Given the description of an element on the screen output the (x, y) to click on. 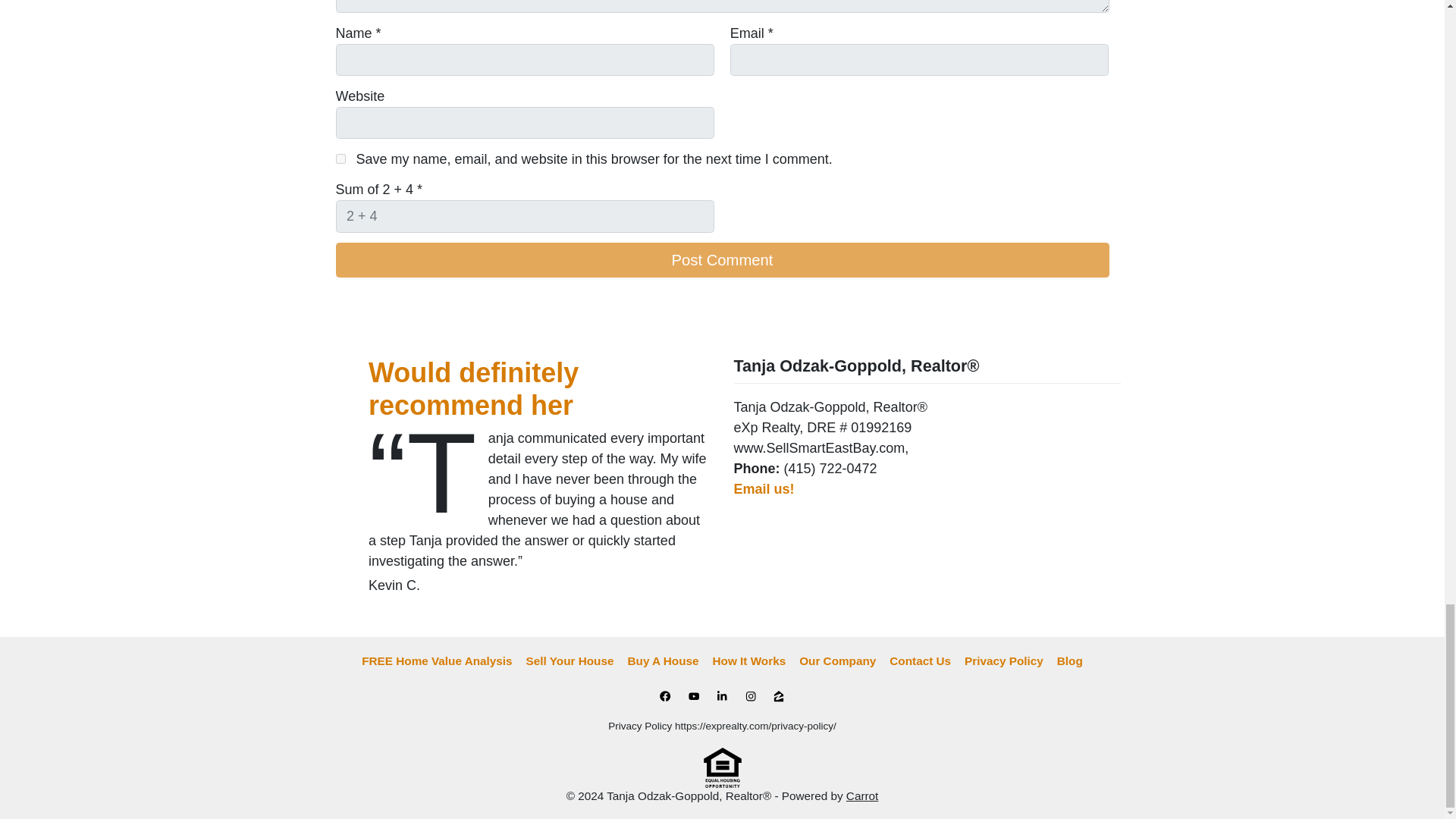
Post Comment (721, 259)
yes (339, 158)
